Given the description of an element on the screen output the (x, y) to click on. 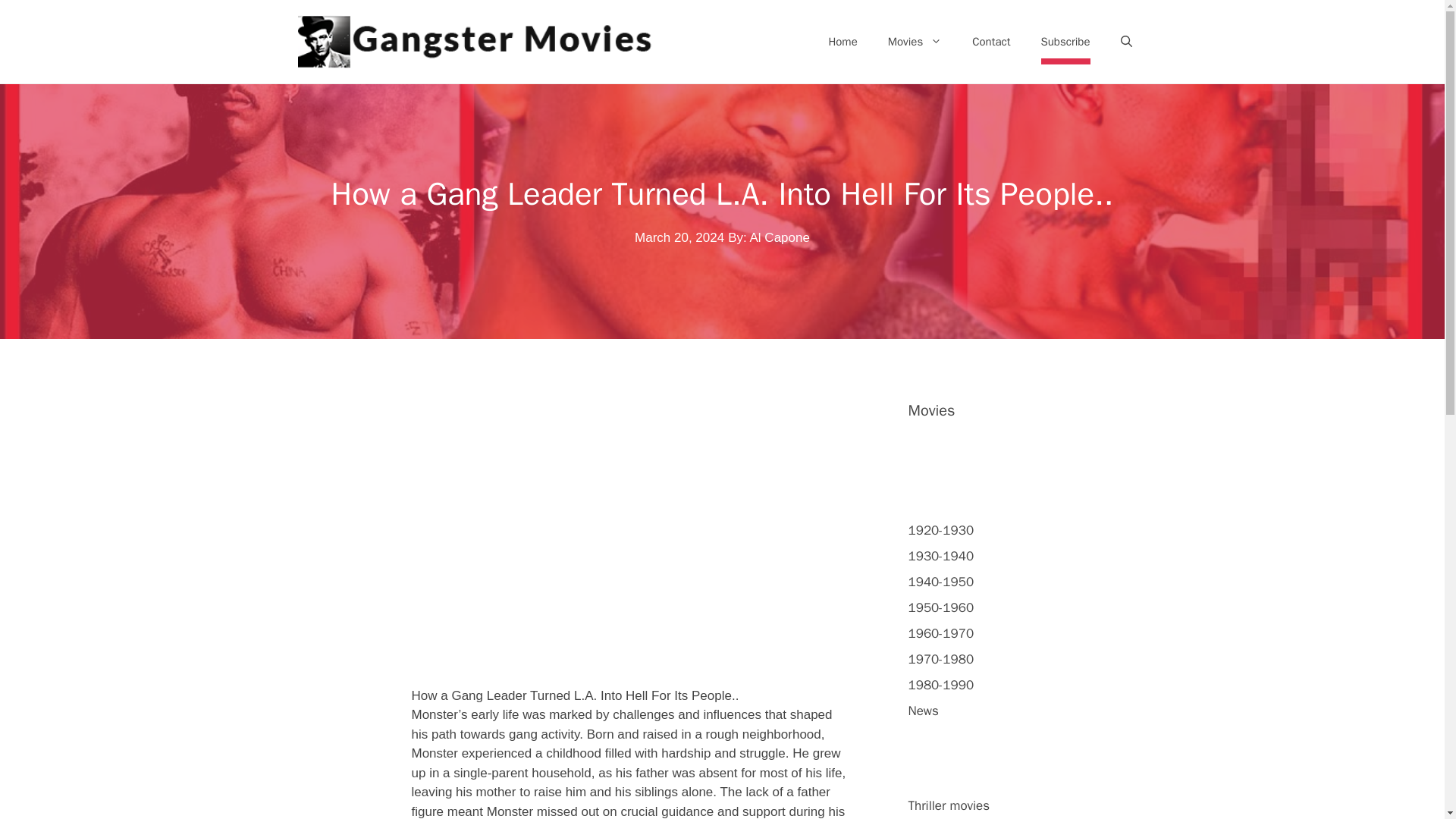
1960-1970 (941, 633)
1930-1940 (941, 555)
1940-1950 (941, 581)
Contact (990, 41)
1950-1960 (941, 607)
Movies (914, 41)
Home (842, 41)
Subscribe (1065, 41)
1920-1930 (941, 530)
